Given the description of an element on the screen output the (x, y) to click on. 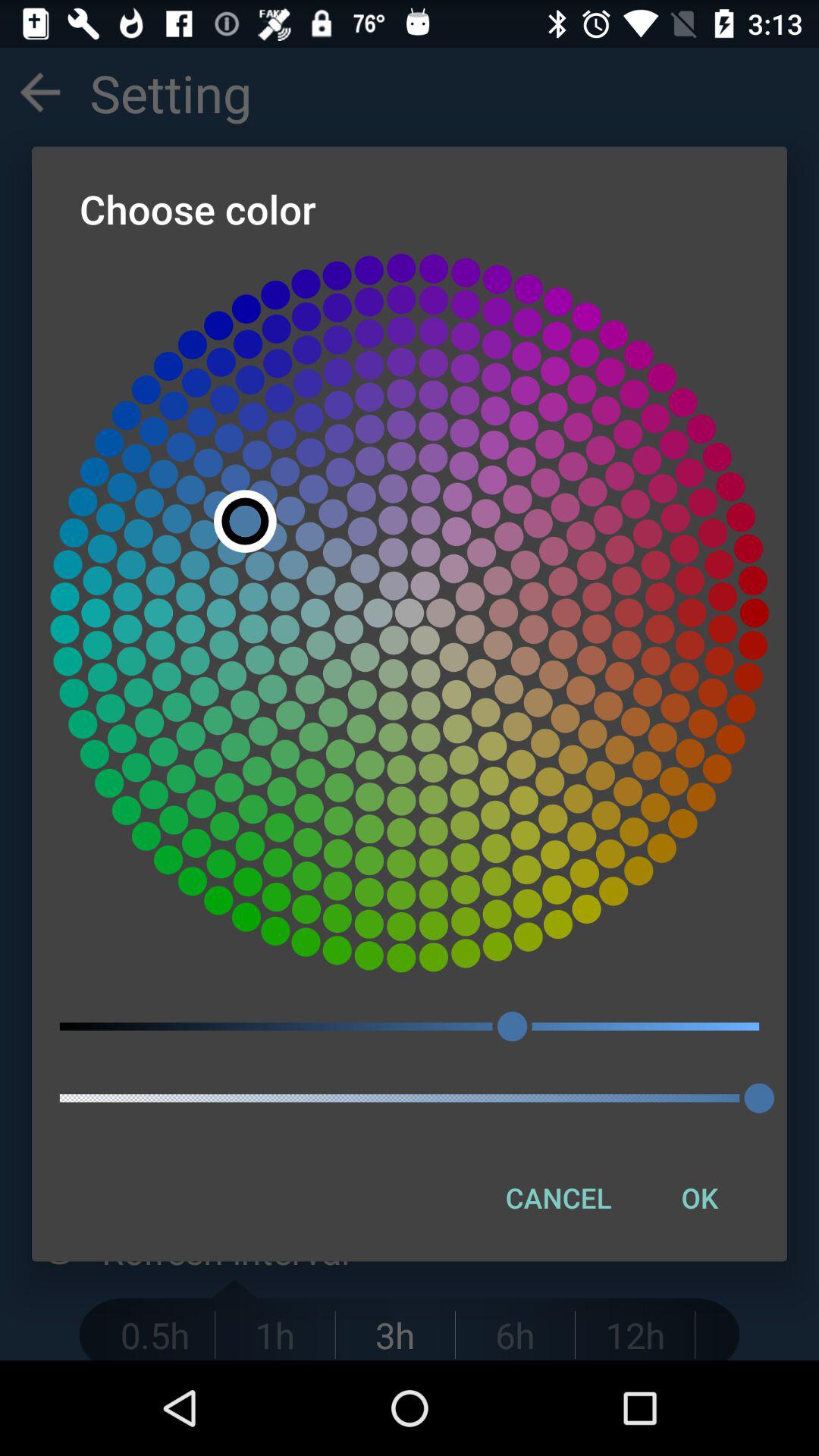
open ok item (699, 1197)
